Given the description of an element on the screen output the (x, y) to click on. 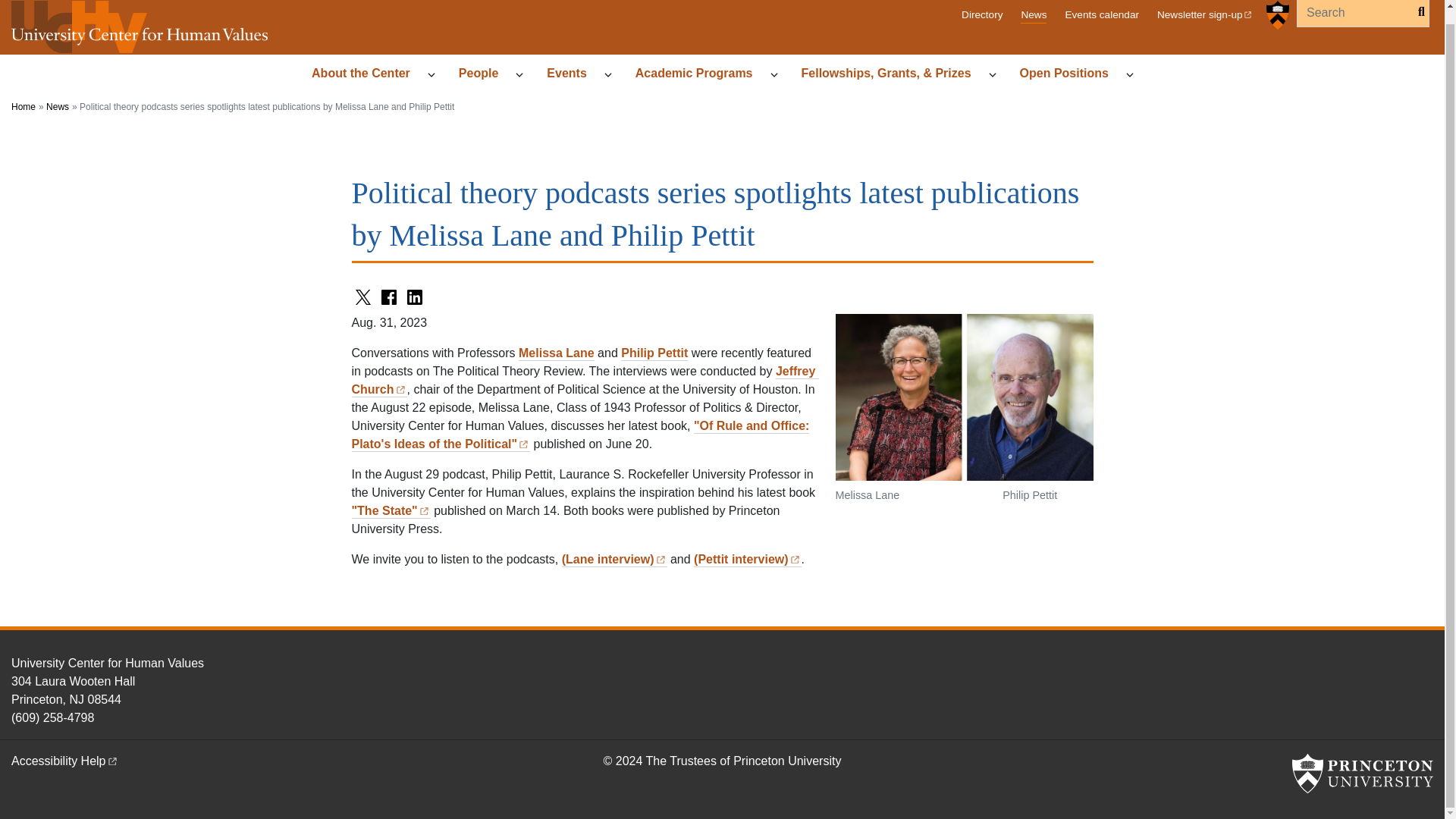
About the Center (367, 74)
Link is external (424, 509)
People (485, 74)
Link is external (400, 388)
Princeton University (1362, 773)
Link is external (660, 557)
Link is external (523, 442)
Link is external (1247, 12)
Link is external (794, 557)
Submit (1417, 12)
Link is external (111, 759)
